Given the description of an element on the screen output the (x, y) to click on. 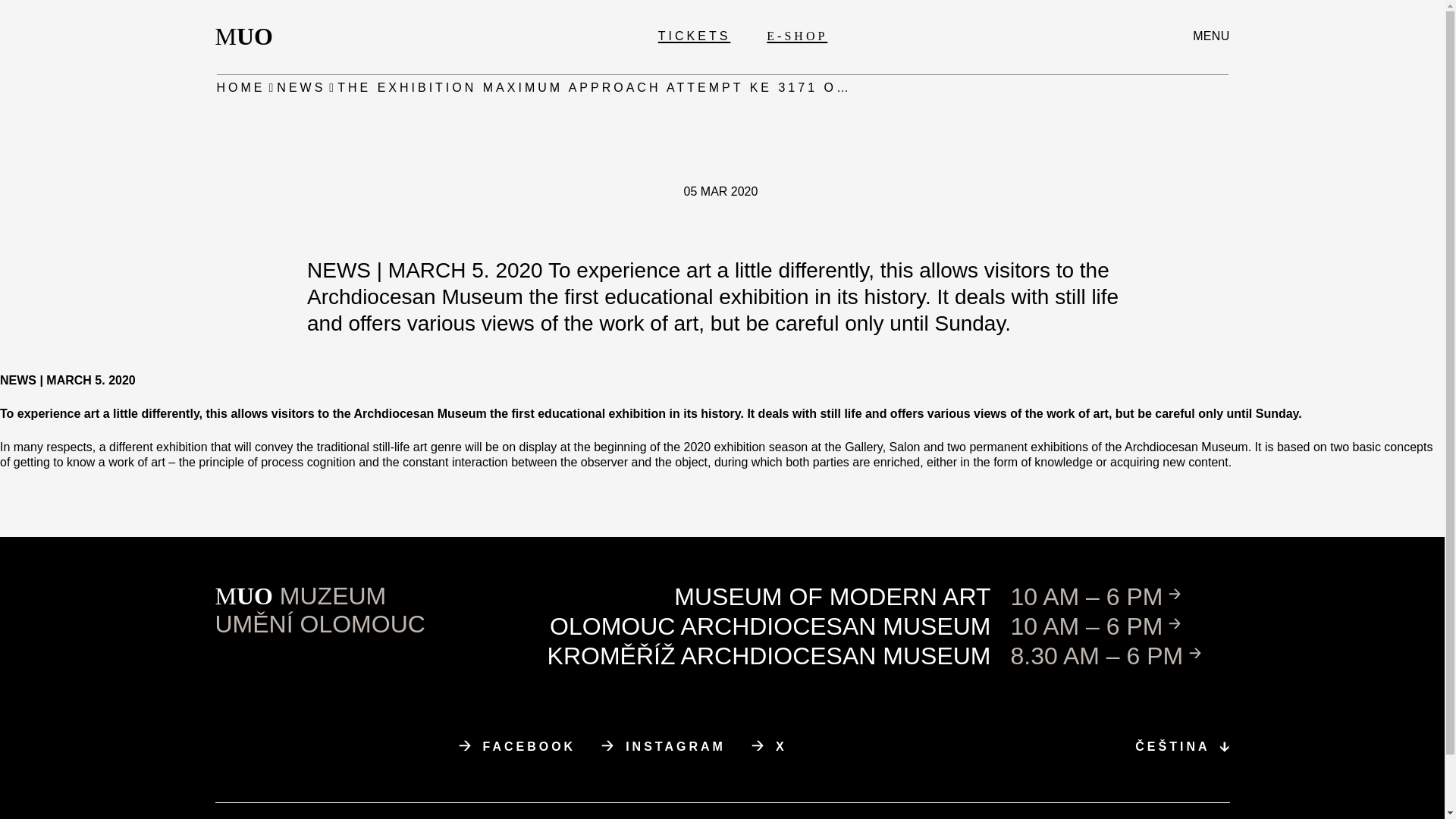
E-SHOP (797, 35)
TODAY CLOSED (1120, 655)
MUSEUM OF MODERN ART (831, 596)
TODAY CLOSED (662, 746)
OLOMOUC ARCHDIOCESAN MUSEUM (517, 746)
TICKETS (1120, 626)
HOME (769, 626)
